Given the description of an element on the screen output the (x, y) to click on. 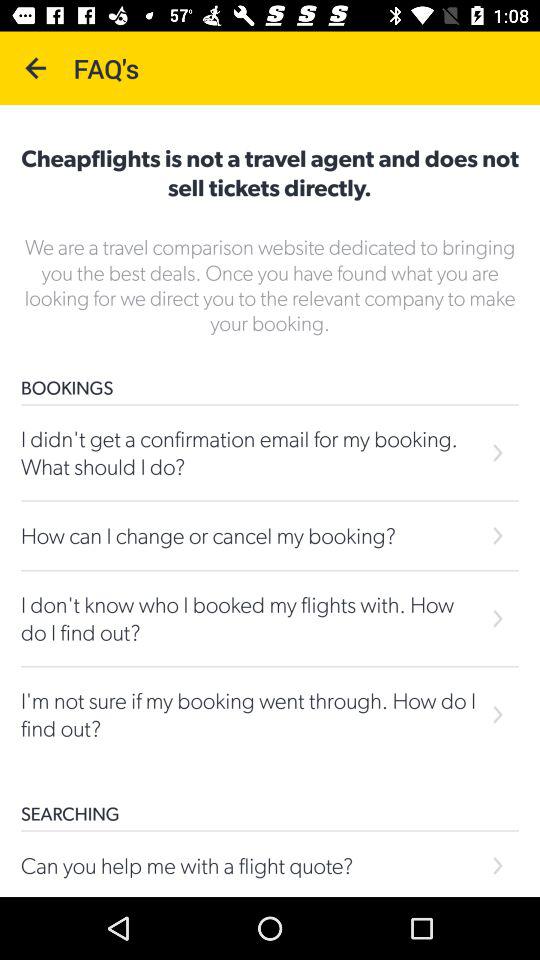
select the icon next to the faq's icon (36, 68)
